Given the description of an element on the screen output the (x, y) to click on. 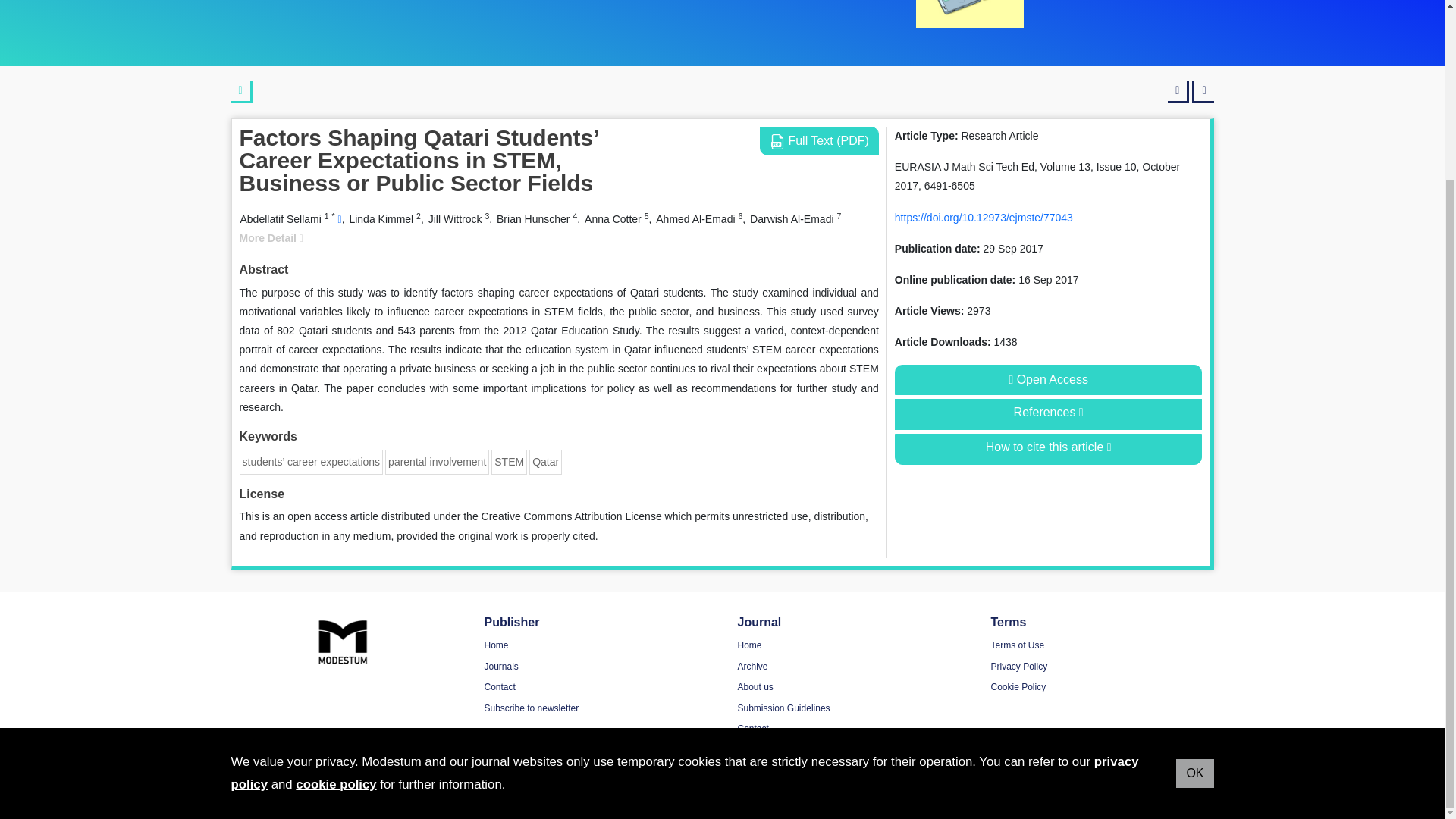
Qatar (545, 461)
Next article (1202, 92)
STEM (509, 461)
Back to article list (240, 92)
Previous article (1178, 92)
parental involvement (437, 461)
